Given the description of an element on the screen output the (x, y) to click on. 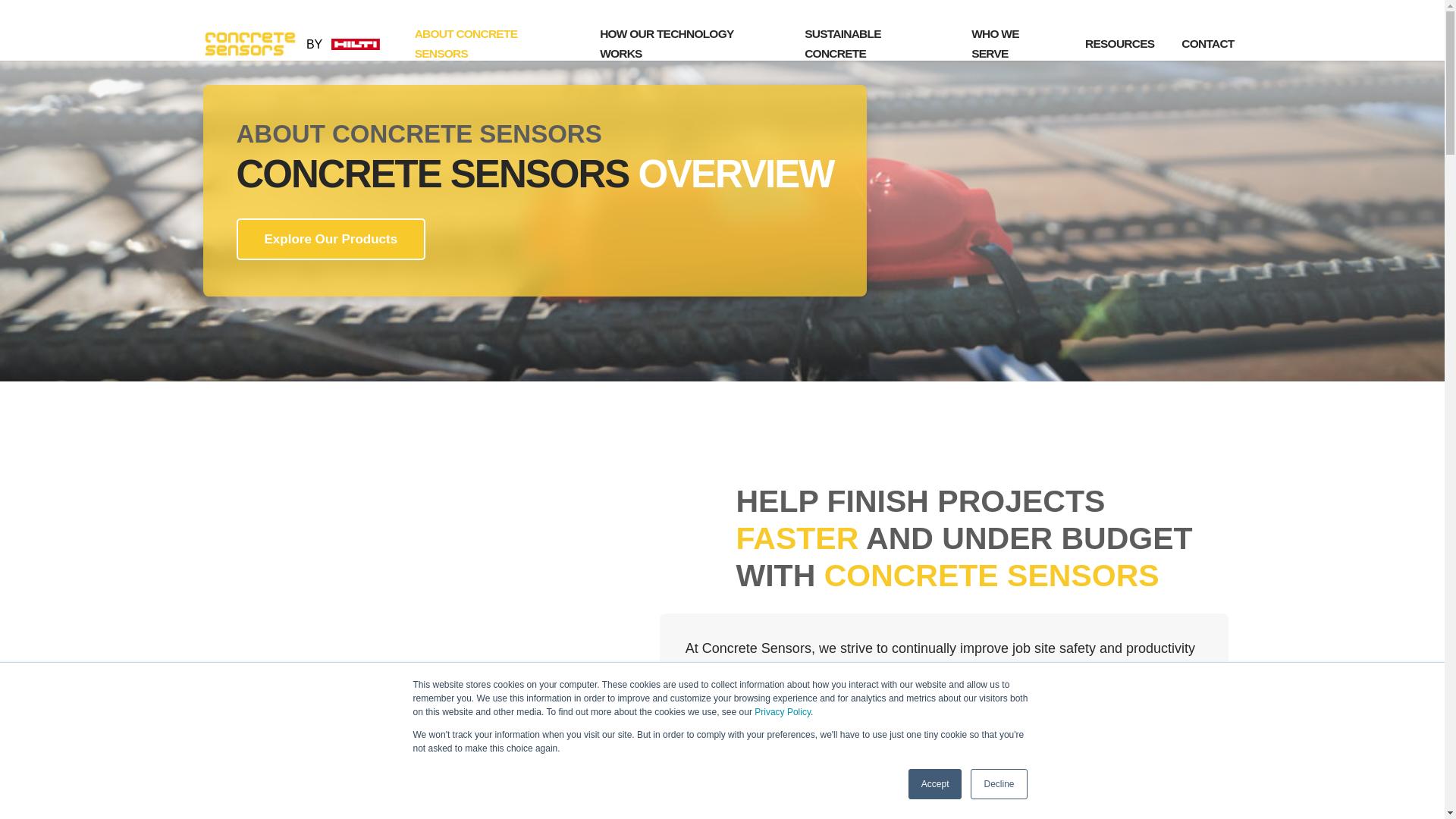
HOW OUR TECHNOLOGY WORKS (688, 43)
Accept (935, 784)
BY (305, 44)
Privacy Policy (782, 711)
Explore Our Products (330, 239)
ABOUT CONCRETE SENSORS (493, 43)
WHO WE SERVE (1014, 43)
Decline (998, 784)
CONTACT (1207, 43)
RESOURCES (1119, 43)
SUSTAINABLE CONCRETE (874, 43)
